Given the description of an element on the screen output the (x, y) to click on. 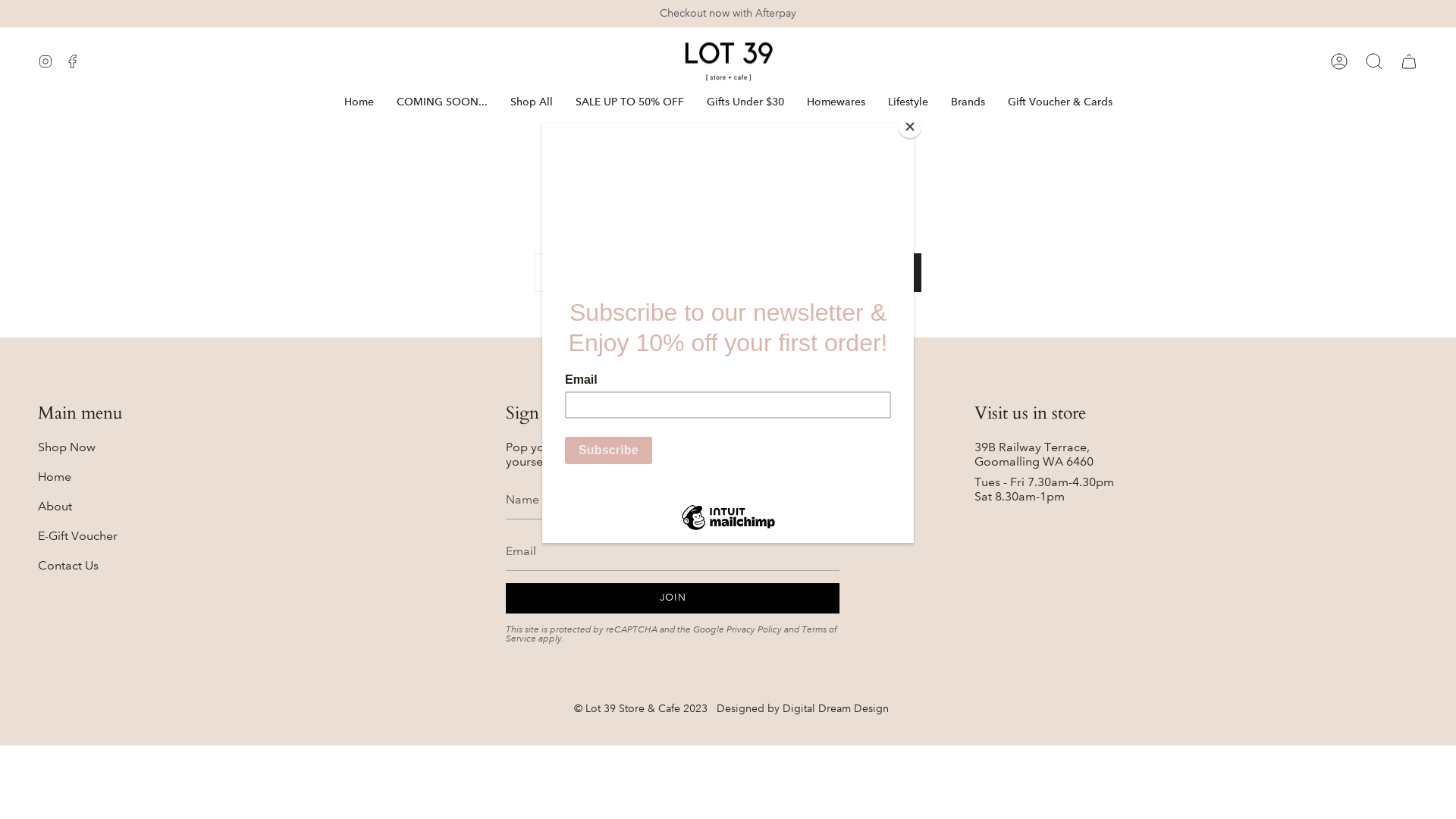
E-Gift Voucher Element type: text (77, 535)
Instagram Element type: text (45, 61)
Homewares Element type: text (834, 101)
Home Element type: text (54, 476)
About Element type: text (54, 505)
Contact Us Element type: text (67, 565)
Facebook Element type: text (72, 61)
Shop All Element type: text (531, 101)
Brands Element type: text (966, 101)
COMING SOON... Element type: text (441, 101)
SALE UP TO 50% OFF Element type: text (629, 101)
Terms of Service Element type: text (671, 634)
Home Element type: text (358, 101)
Designed by Digital Dream Design Element type: text (801, 708)
Gifts Under $30 Element type: text (744, 101)
Account Element type: text (1338, 61)
Privacy Policy Element type: text (753, 629)
Gift Voucher & Cards Element type: text (1059, 101)
JOIN Element type: text (672, 598)
Lifestyle Element type: text (907, 101)
Cart Element type: text (1408, 61)
Shop Now Element type: text (66, 446)
